Given the description of an element on the screen output the (x, y) to click on. 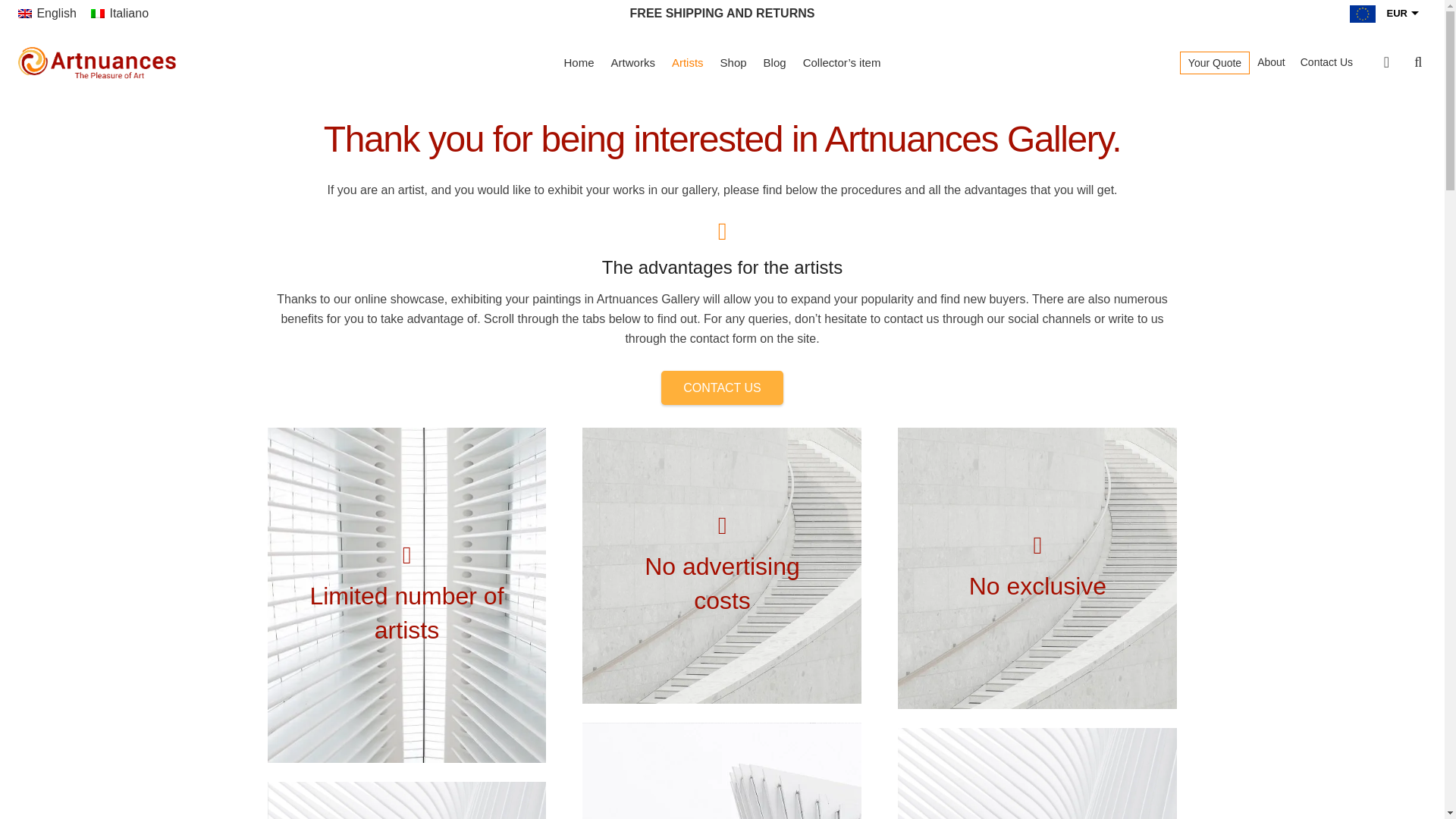
Italiano (119, 11)
English (47, 11)
Contact Us (1326, 61)
CONTACT US (722, 387)
About (1271, 61)
EUR (1376, 18)
Your Quote (1214, 61)
